Given the description of an element on the screen output the (x, y) to click on. 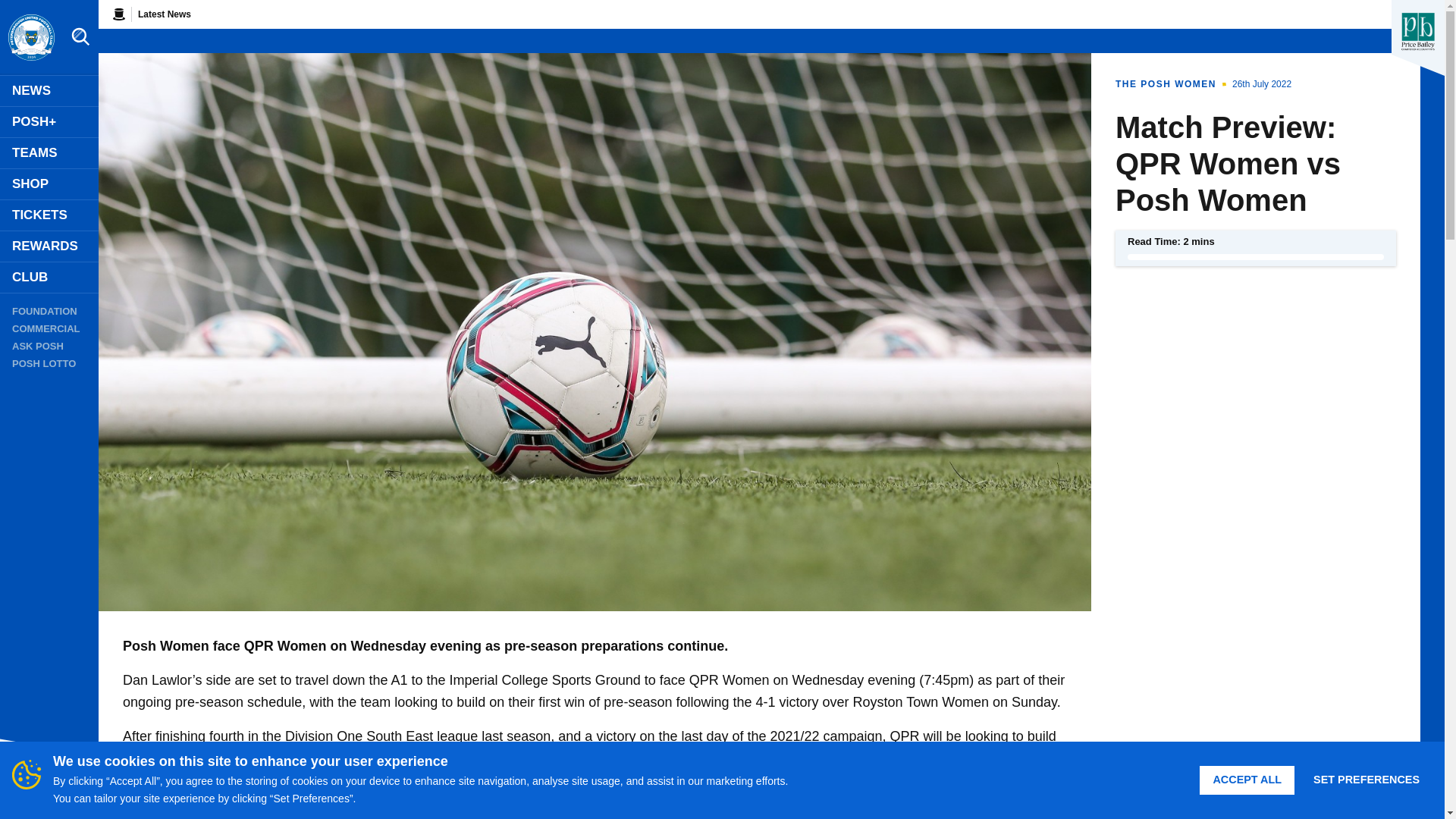
NEWS (49, 91)
TEAMS (49, 153)
Link to Peterborough United homepage (31, 37)
News (49, 91)
